Given the description of an element on the screen output the (x, y) to click on. 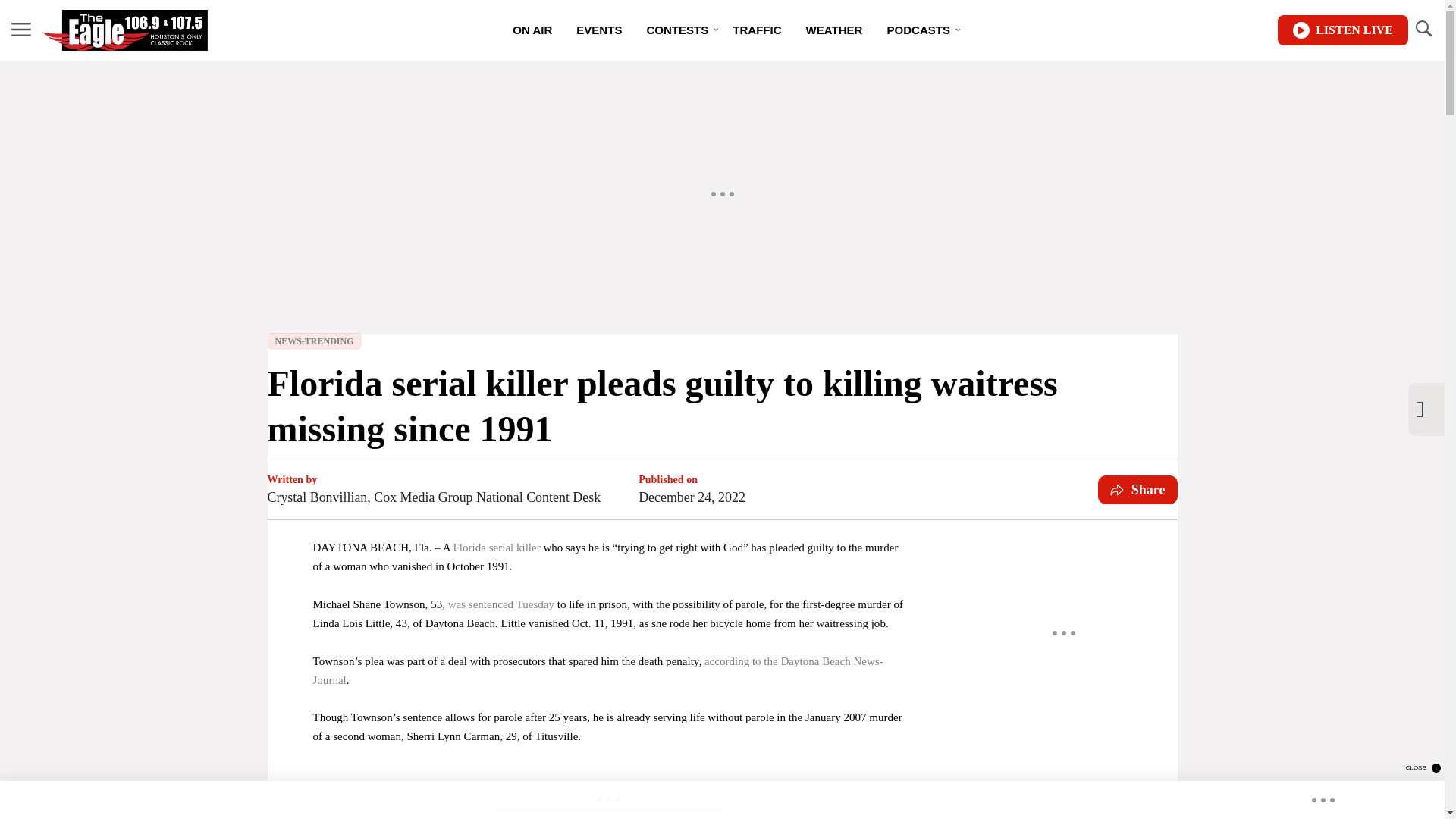
WEATHER (834, 30)
TOGGLE SEARCH (1422, 28)
TRAFFIC (756, 30)
MENU (20, 29)
ON AIR (532, 30)
according to the Daytona Beach News-Journal (597, 670)
EVENTS (598, 30)
Florida serial killer (496, 547)
Crystal Bonvillian, Cox Media Group National Content Desk (432, 496)
CONTESTS (676, 30)
